Given the description of an element on the screen output the (x, y) to click on. 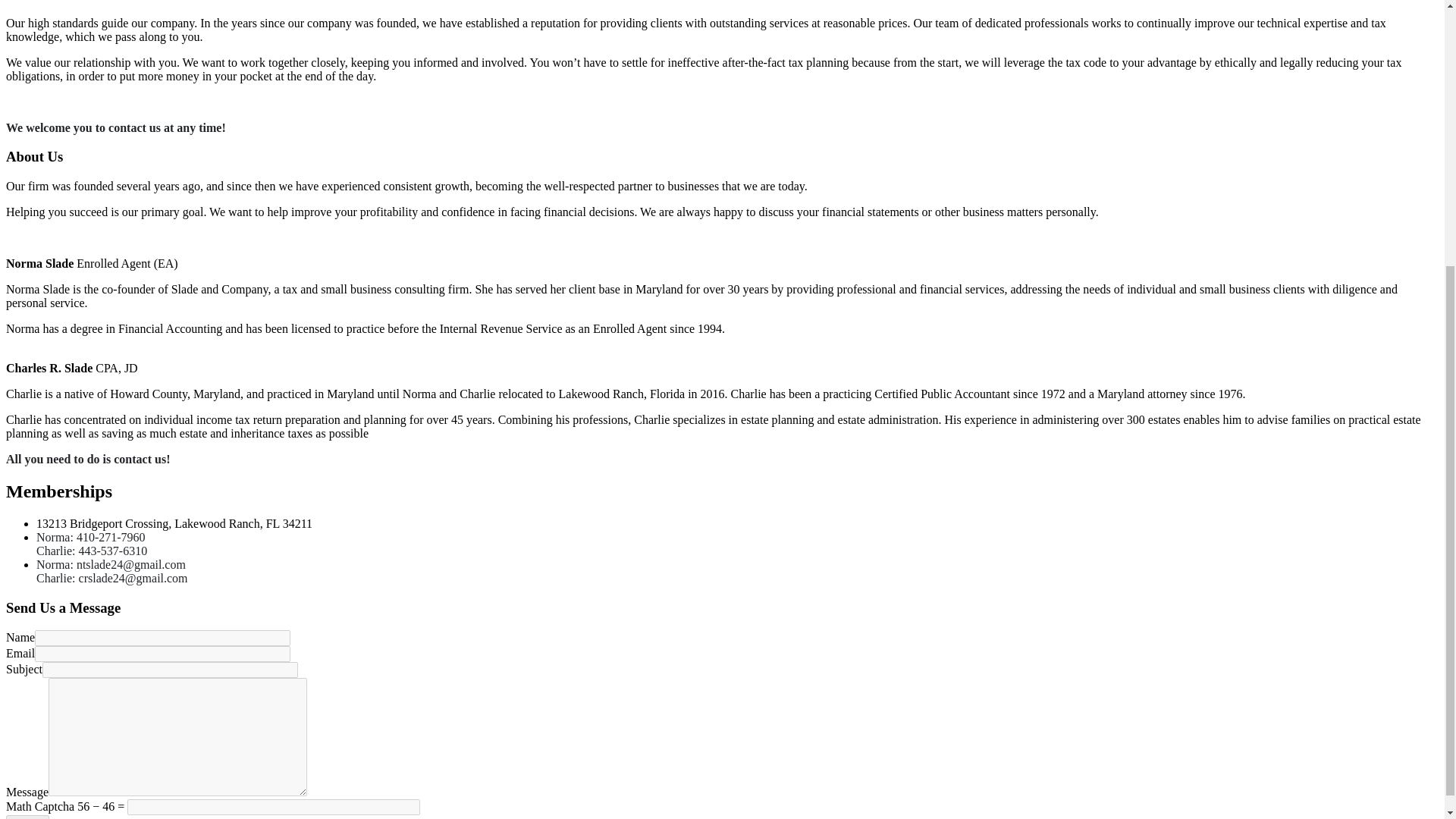
We welcome you to contact us at any time! (115, 127)
All you need to do is contact us! (87, 459)
